Given the description of an element on the screen output the (x, y) to click on. 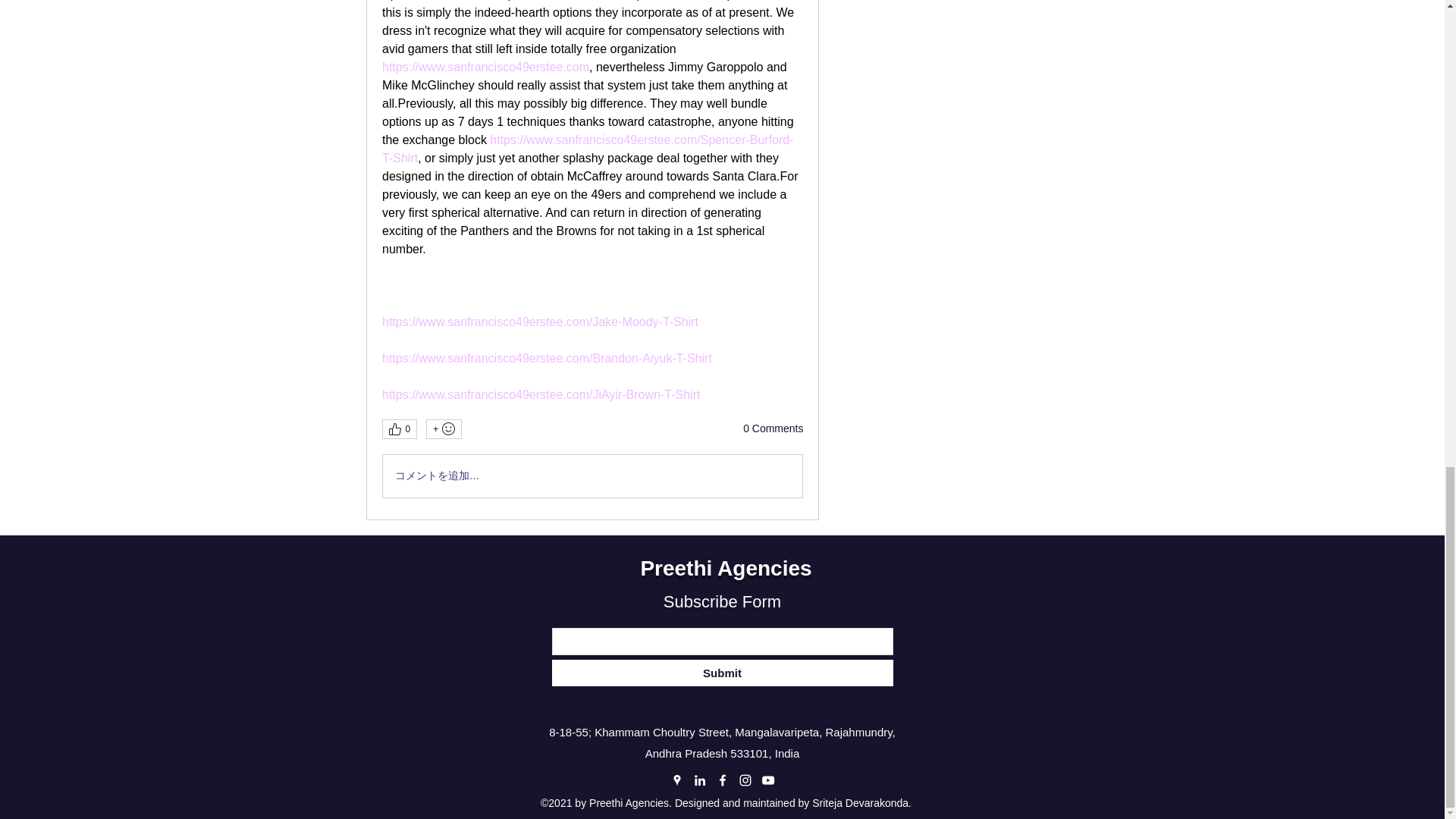
0 Comments (772, 428)
